Given the description of an element on the screen output the (x, y) to click on. 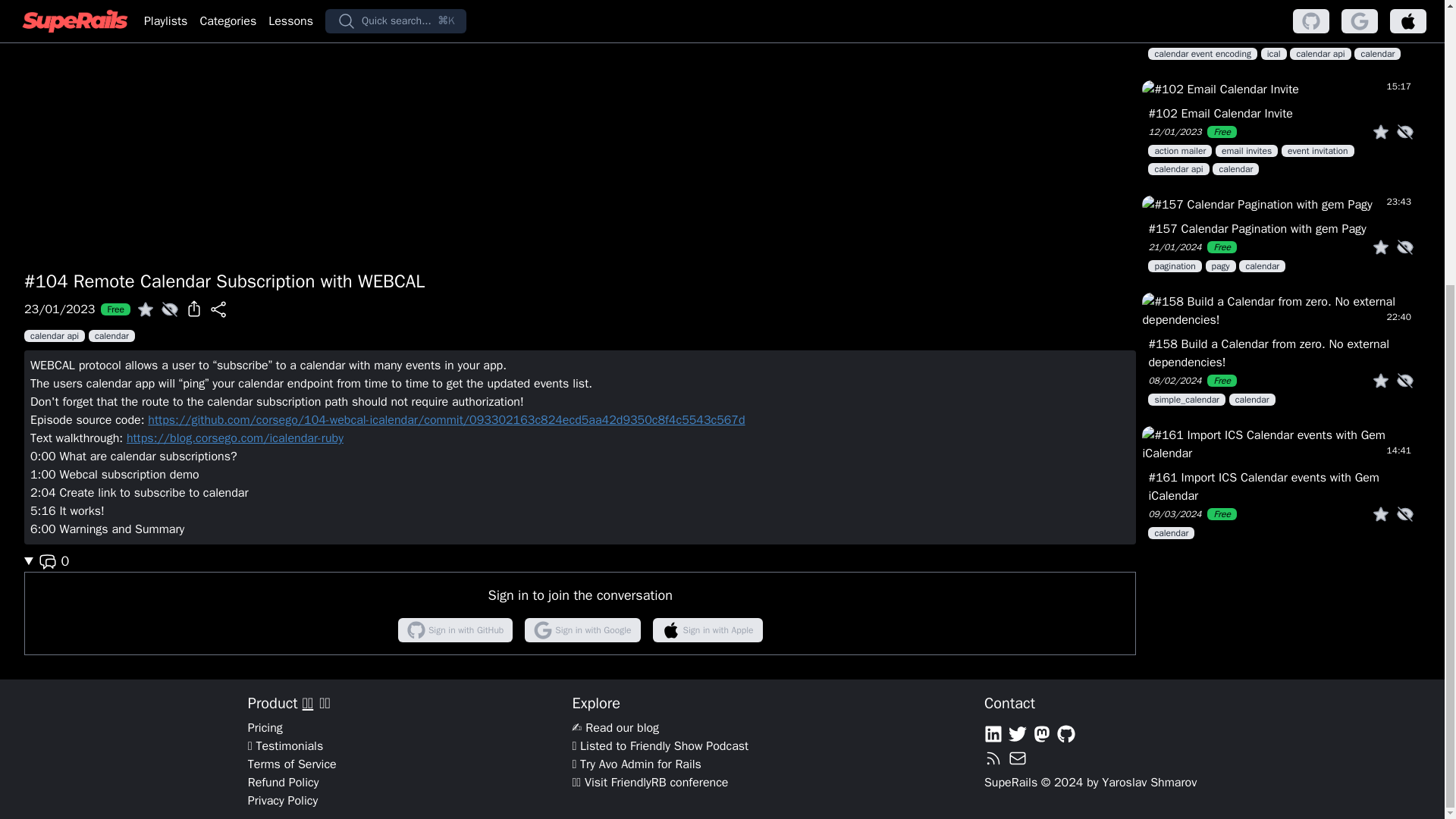
calendar (111, 335)
github (1066, 733)
calendar api (56, 335)
calendar (1262, 264)
Sign in with GitHub (454, 630)
linkedin (993, 733)
Ruby on Rails admin panel framework (660, 764)
23:43 (1281, 204)
calendar api (1180, 168)
action mailer (1181, 150)
